Given the description of an element on the screen output the (x, y) to click on. 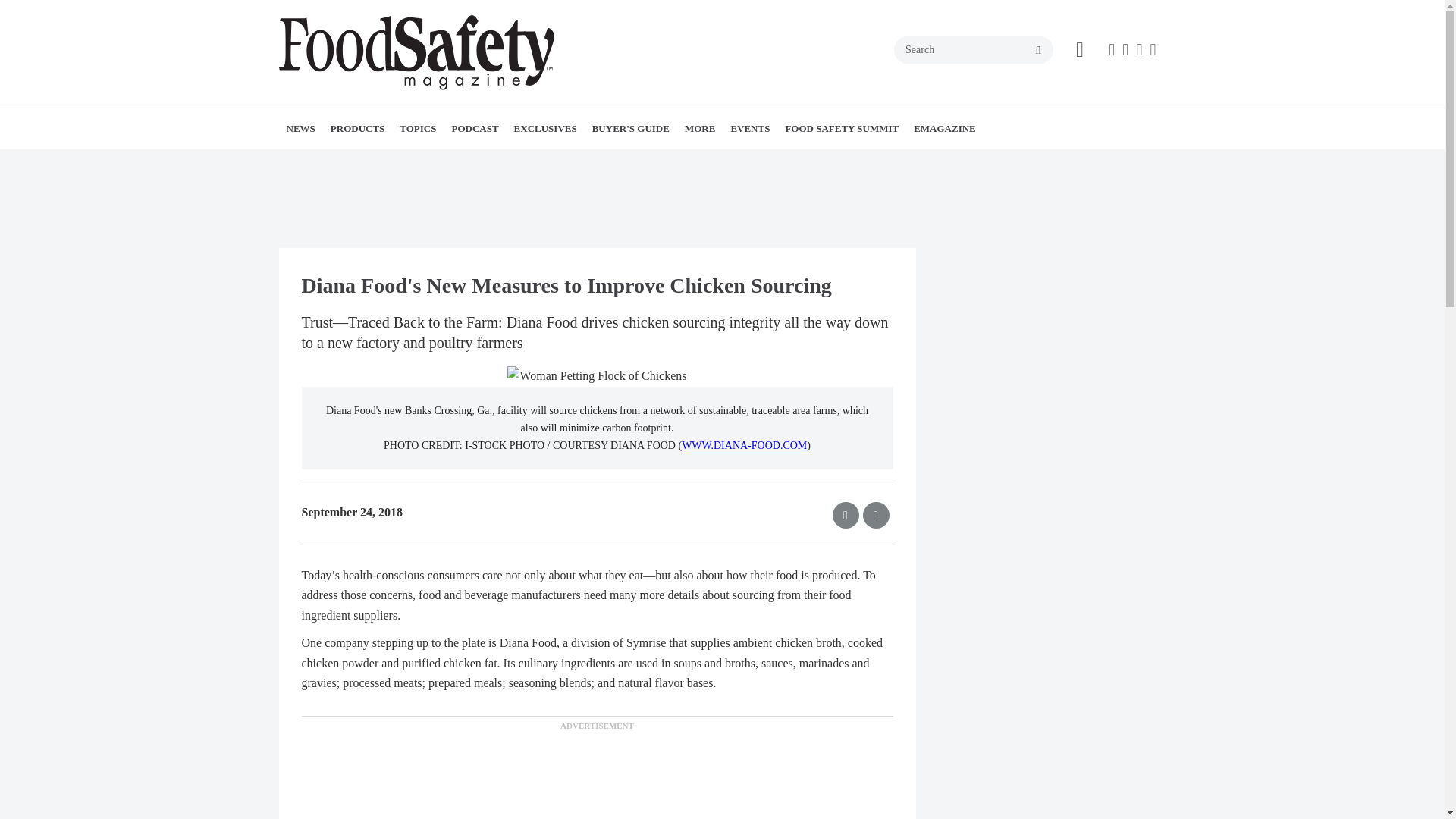
TESTING AND ANALYSIS (520, 161)
BUYER'S GUIDE (631, 128)
STORE (778, 161)
PODCAST (474, 128)
search (1037, 50)
FSM DISTINGUISHED SERVICE AWARD (608, 170)
WHITE PAPERS (380, 161)
MANAGEMENT (500, 161)
EXCLUSIVES (545, 128)
SPONSOR INSIGHTS (785, 161)
